Given the description of an element on the screen output the (x, y) to click on. 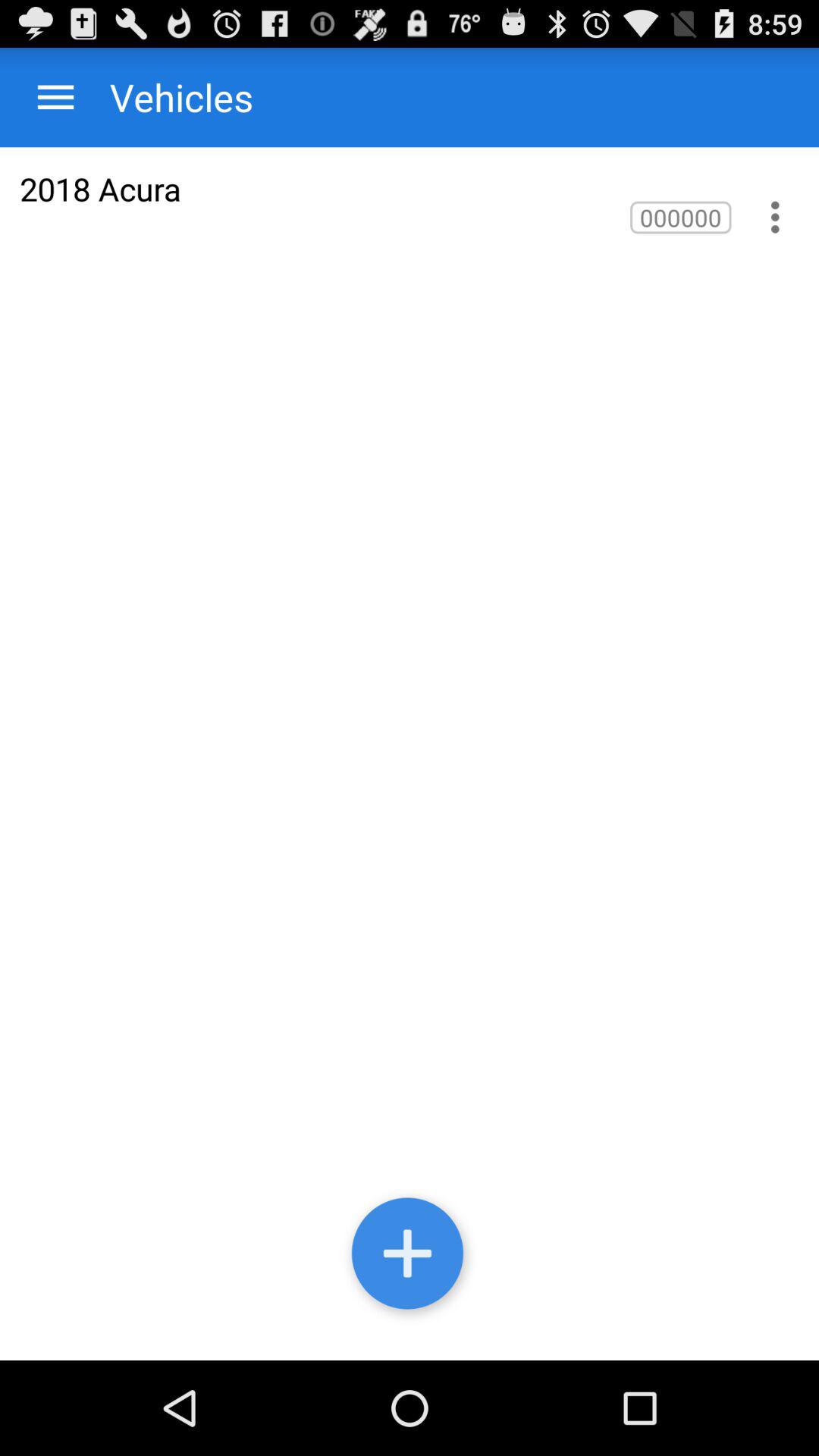
launch app next to the vehicles item (55, 97)
